Given the description of an element on the screen output the (x, y) to click on. 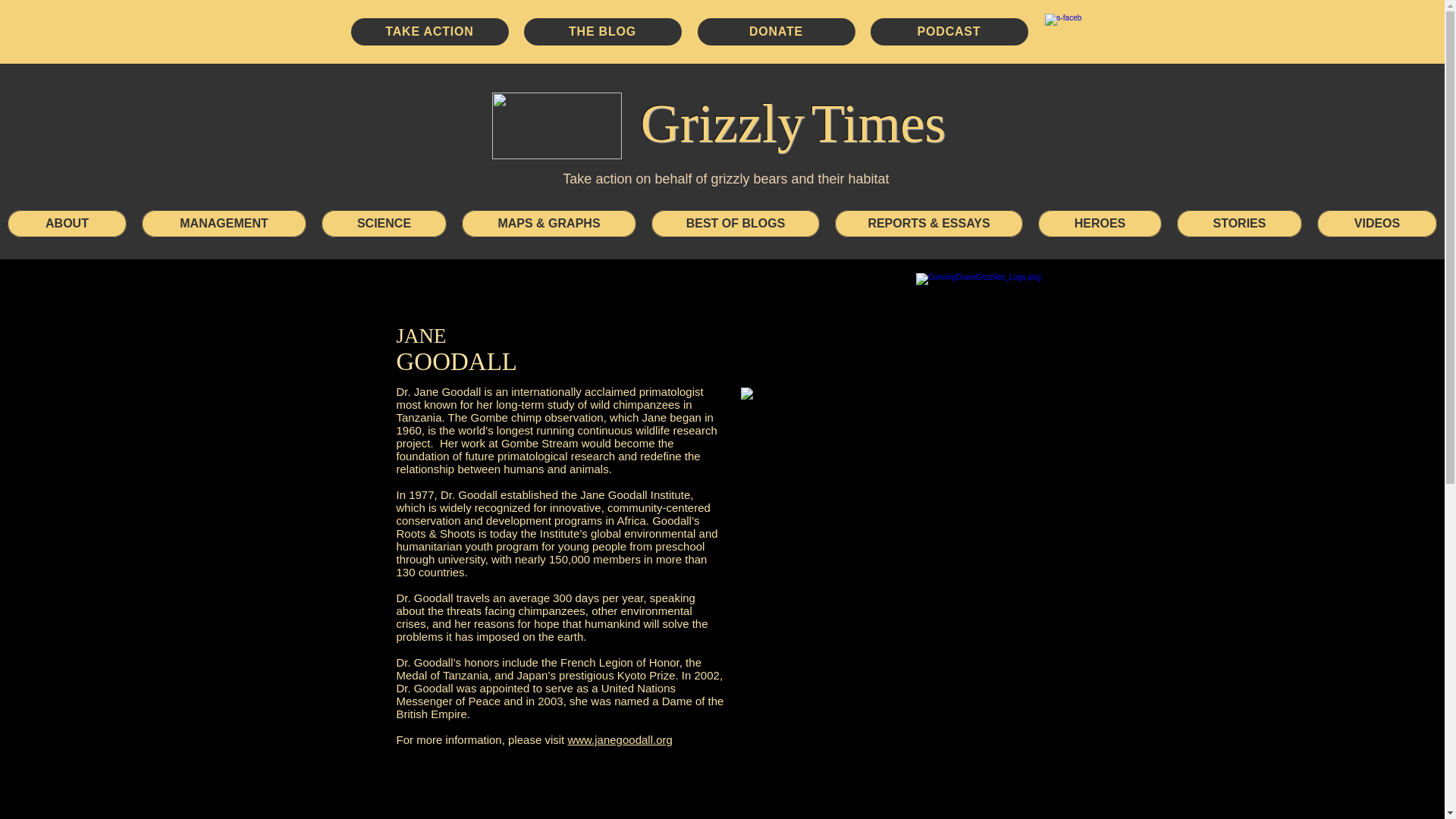
MANAGEMENT (223, 223)
BEST OF BLOGS (734, 223)
THE BLOG (601, 31)
Grizzly Times (792, 122)
SCIENCE (383, 223)
DONATE (776, 31)
PODCAST (948, 31)
TAKE ACTION (429, 31)
